Given the description of an element on the screen output the (x, y) to click on. 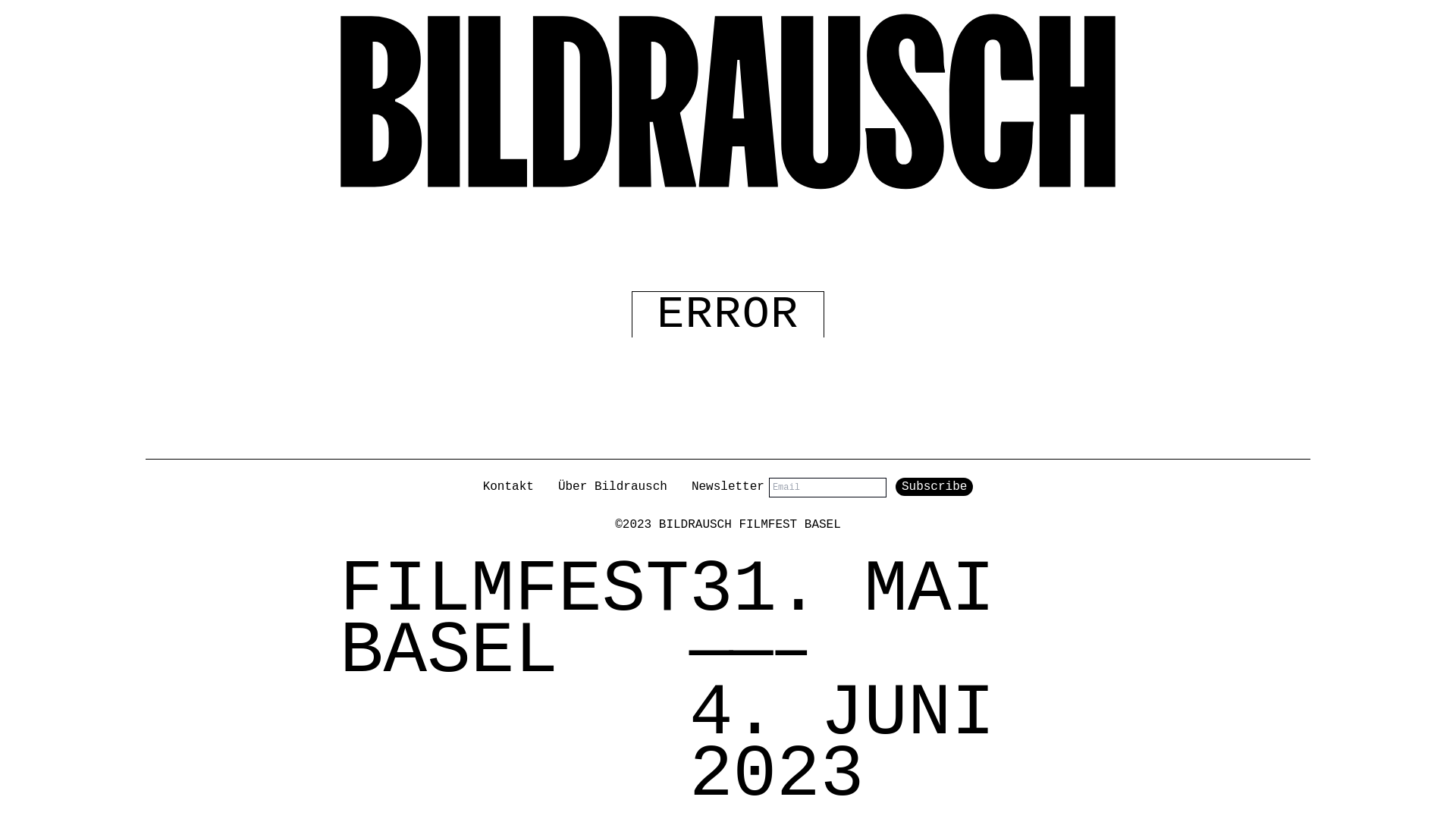
Subscribe Element type: text (933, 486)
Kontakt Element type: text (508, 487)
